Given the description of an element on the screen output the (x, y) to click on. 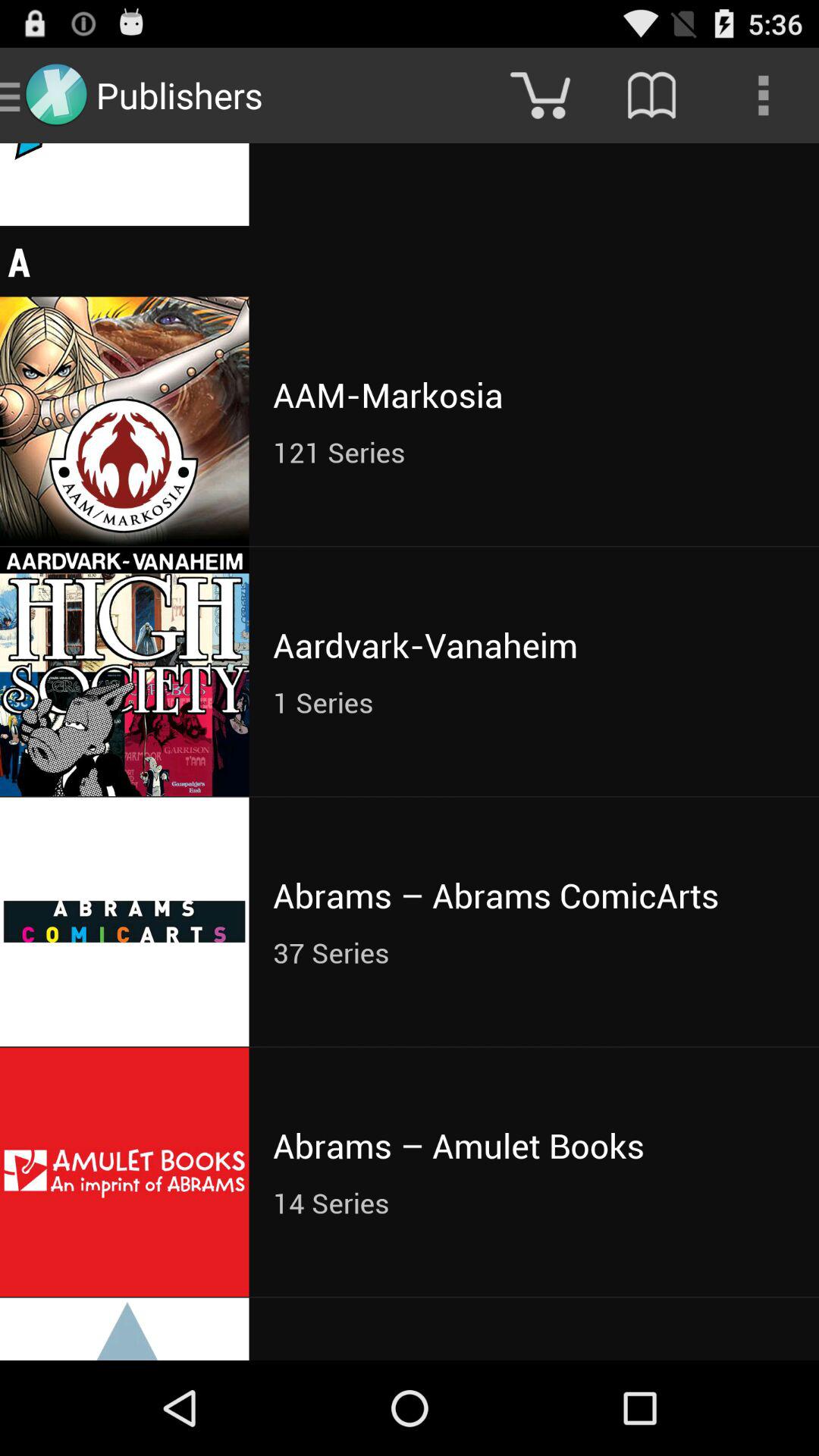
flip to 1 series icon (534, 702)
